Given the description of an element on the screen output the (x, y) to click on. 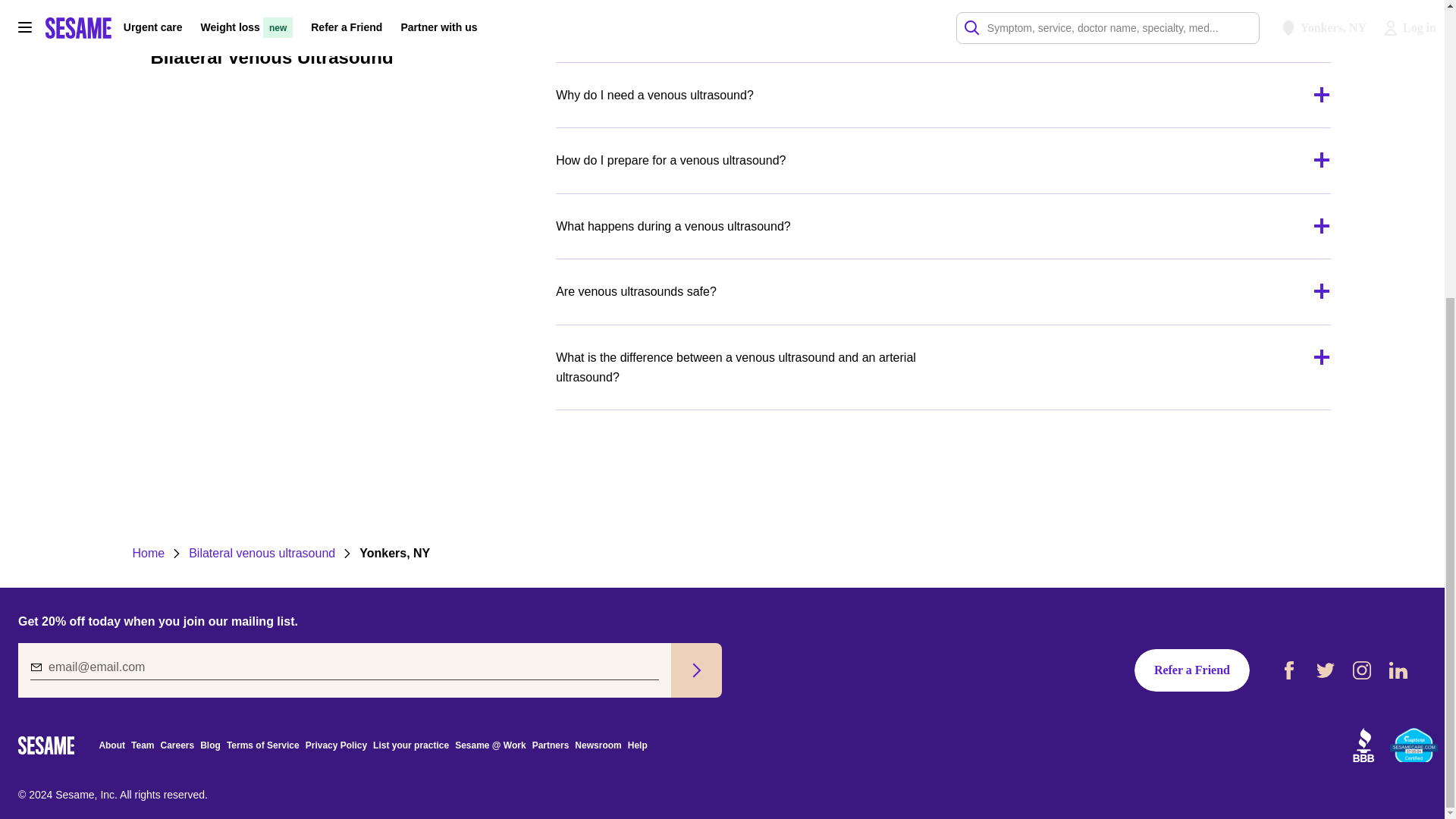
Verify LegitScript Approval (1414, 745)
LinkedIn (1398, 669)
Facebook (1288, 669)
Twitter (1325, 669)
Instagram (1361, 669)
